Given the description of an element on the screen output the (x, y) to click on. 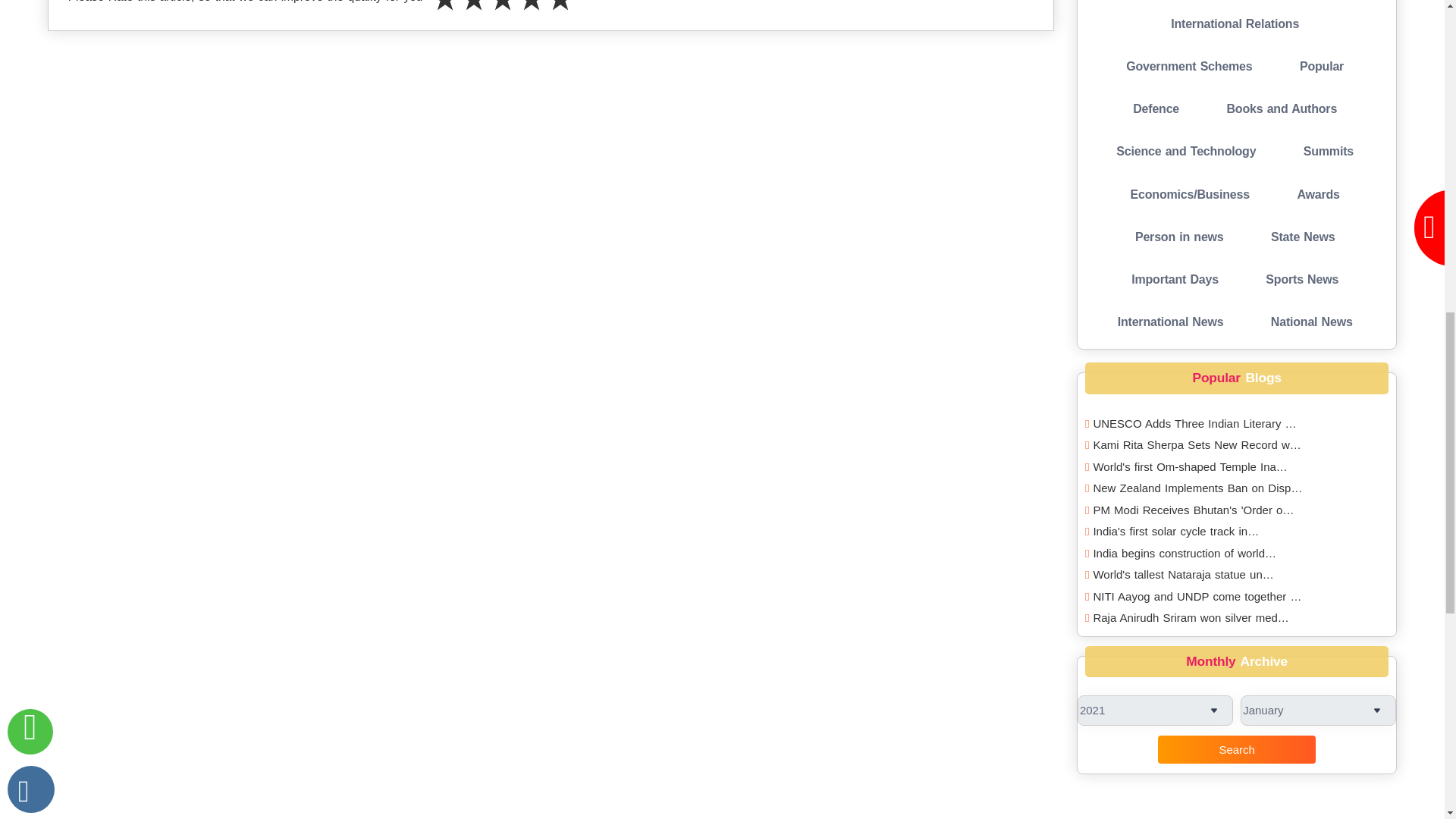
Give 2 stars (473, 11)
Give 3 stars (501, 11)
Give 5 stars (560, 11)
Give 4 stars (531, 11)
Give 1 star (445, 11)
